Given the description of an element on the screen output the (x, y) to click on. 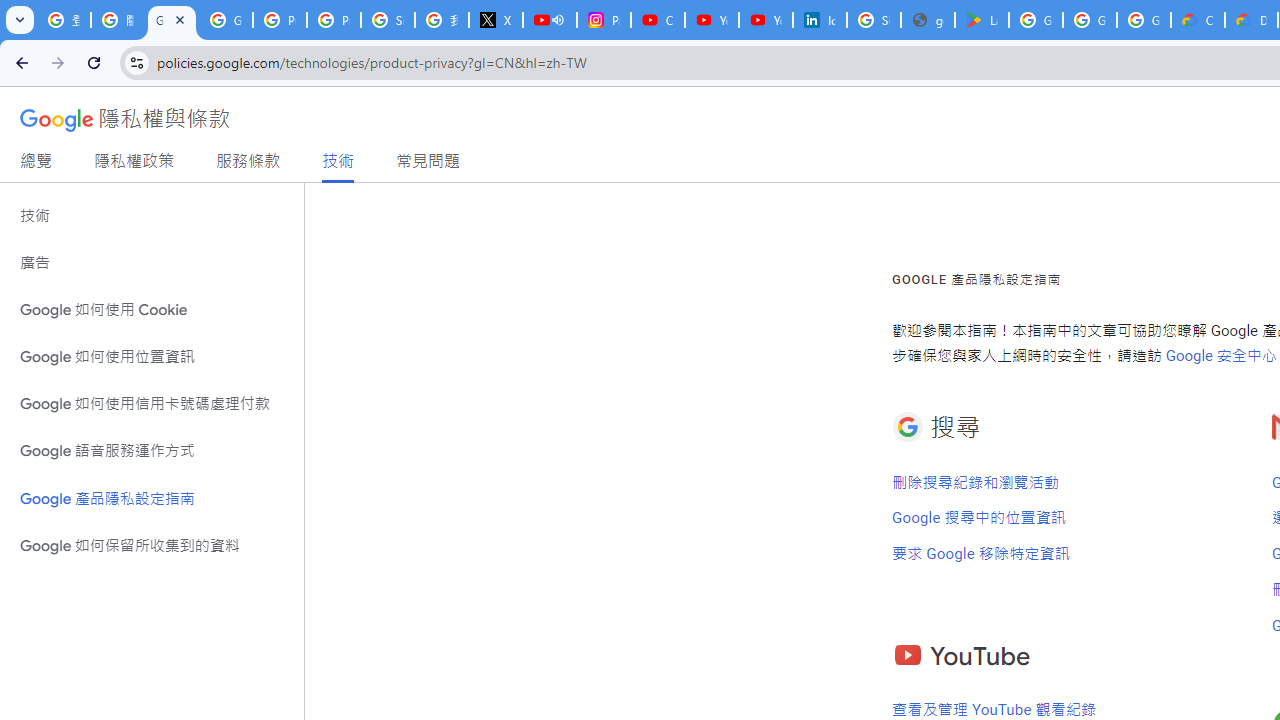
Google Workspace - Specific Terms (1144, 20)
YouTube Culture & Trends - YouTube Top 10, 2021 (765, 20)
